Given the description of an element on the screen output the (x, y) to click on. 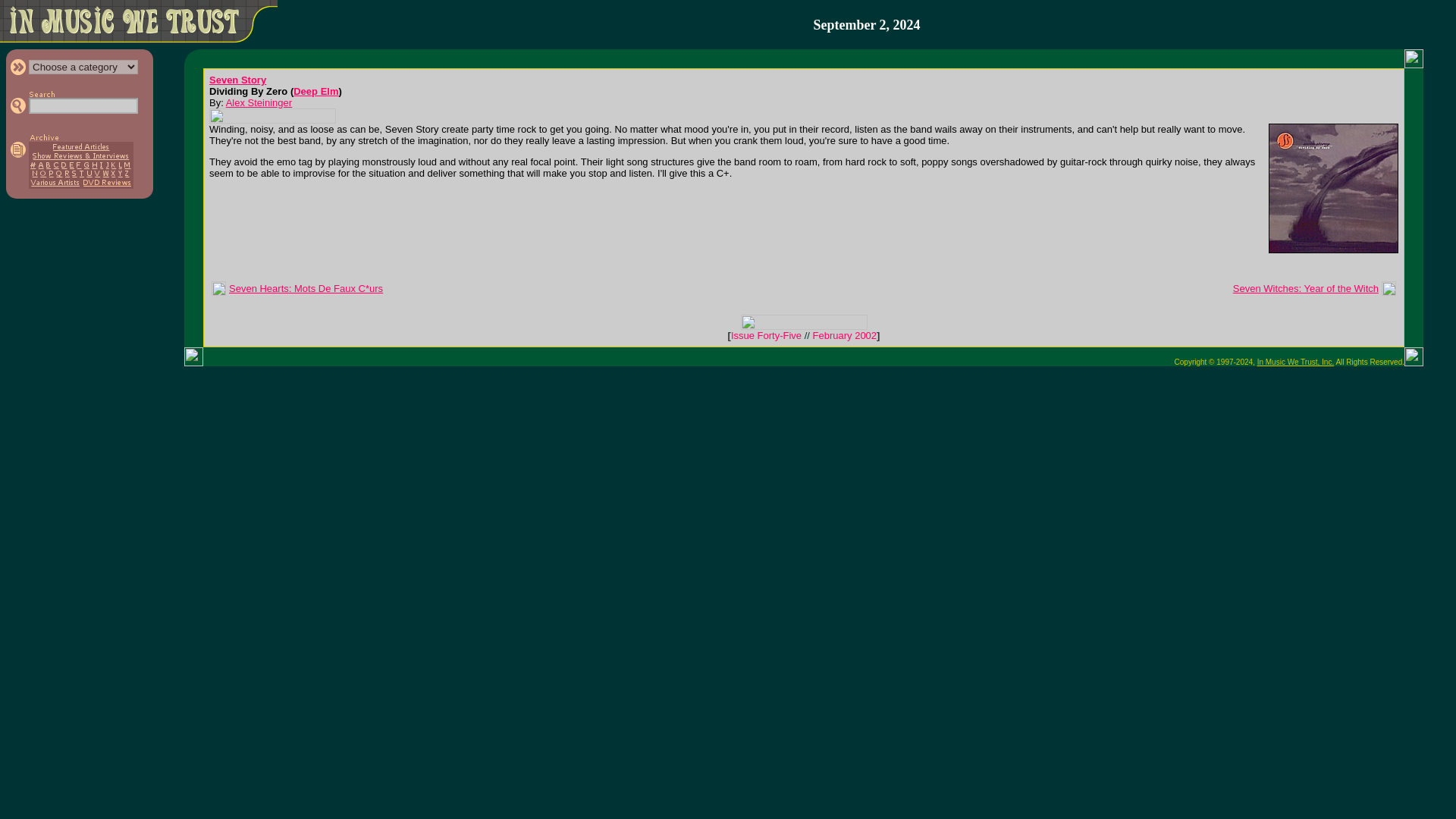
September 2, 2024 (866, 24)
In Music We Trust, Inc. (1296, 361)
Seven Witches: Year of the Witch (1305, 288)
Deep Elm (315, 91)
Alex Steininger (258, 102)
Seven Story (237, 79)
